Given the description of an element on the screen output the (x, y) to click on. 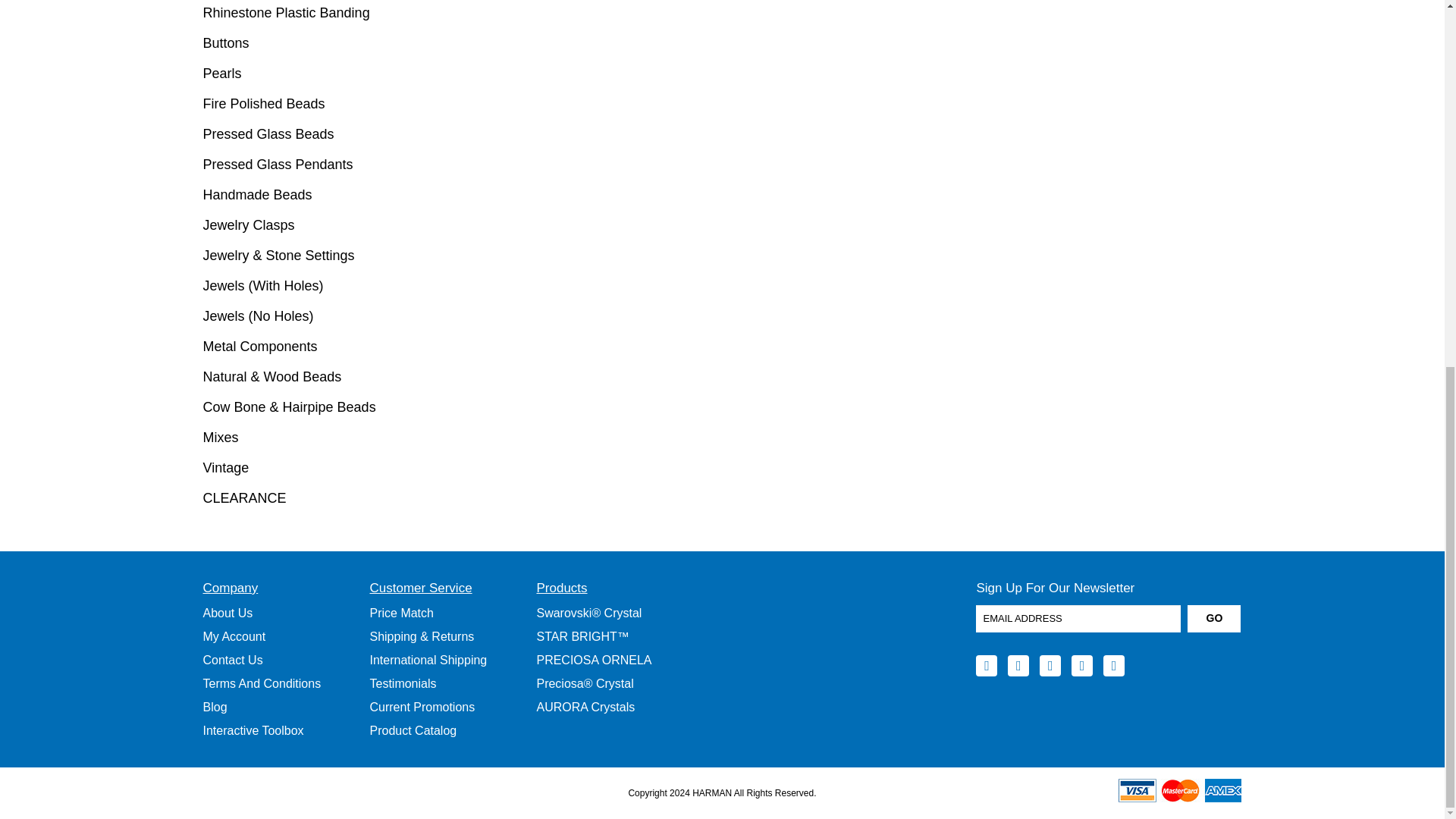
Pressed Glass Pendants (324, 164)
Subscribe to our Channel (1050, 665)
Follow Us on Instagram (1113, 665)
Like Us on Facebook (986, 665)
Follow Us on Twitter (1018, 665)
Jewelry Clasps (324, 224)
Follow Us on Pinterest (1082, 665)
Handmade Beads (324, 194)
Pearls (324, 73)
Fire Polished Beads (324, 103)
